Given the description of an element on the screen output the (x, y) to click on. 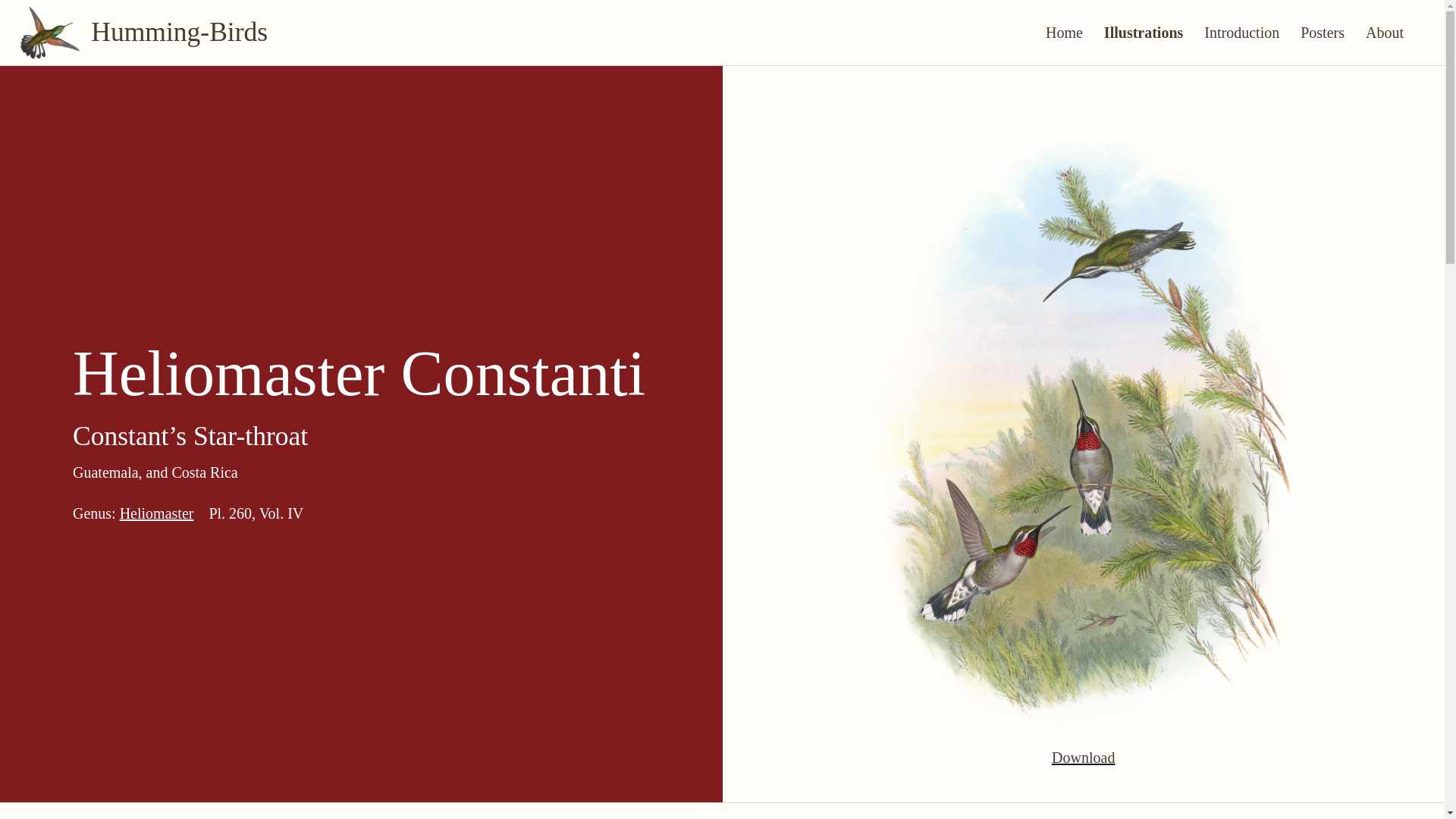
Download (1083, 757)
Download plate (1083, 757)
Illustrations (1143, 32)
Posters (1322, 32)
Introduction (1241, 32)
Home (1064, 32)
Heliomaster (156, 513)
Humming-Birds (148, 32)
About (1384, 32)
